Given the description of an element on the screen output the (x, y) to click on. 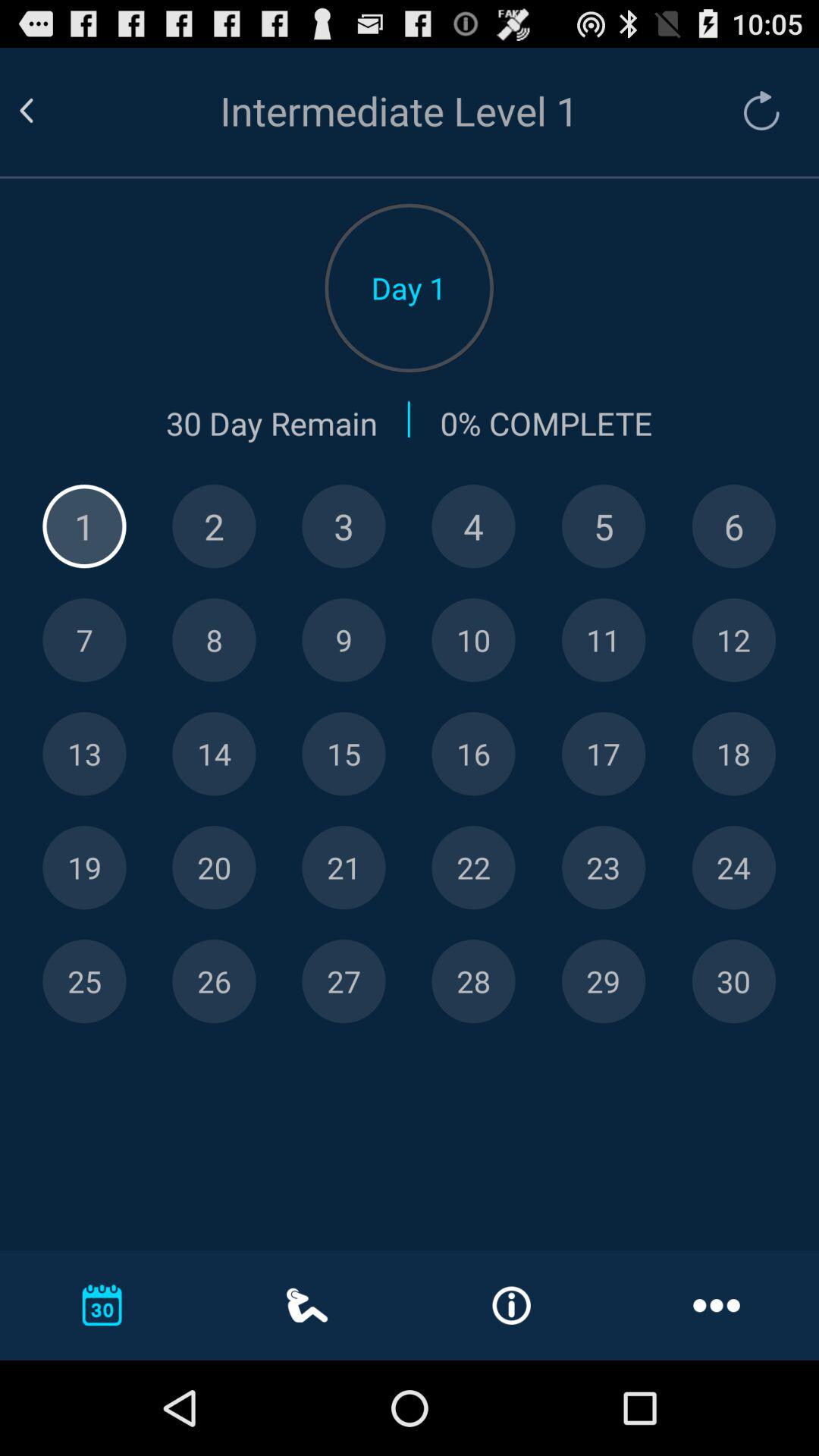
go to day 24 (733, 867)
